Given the description of an element on the screen output the (x, y) to click on. 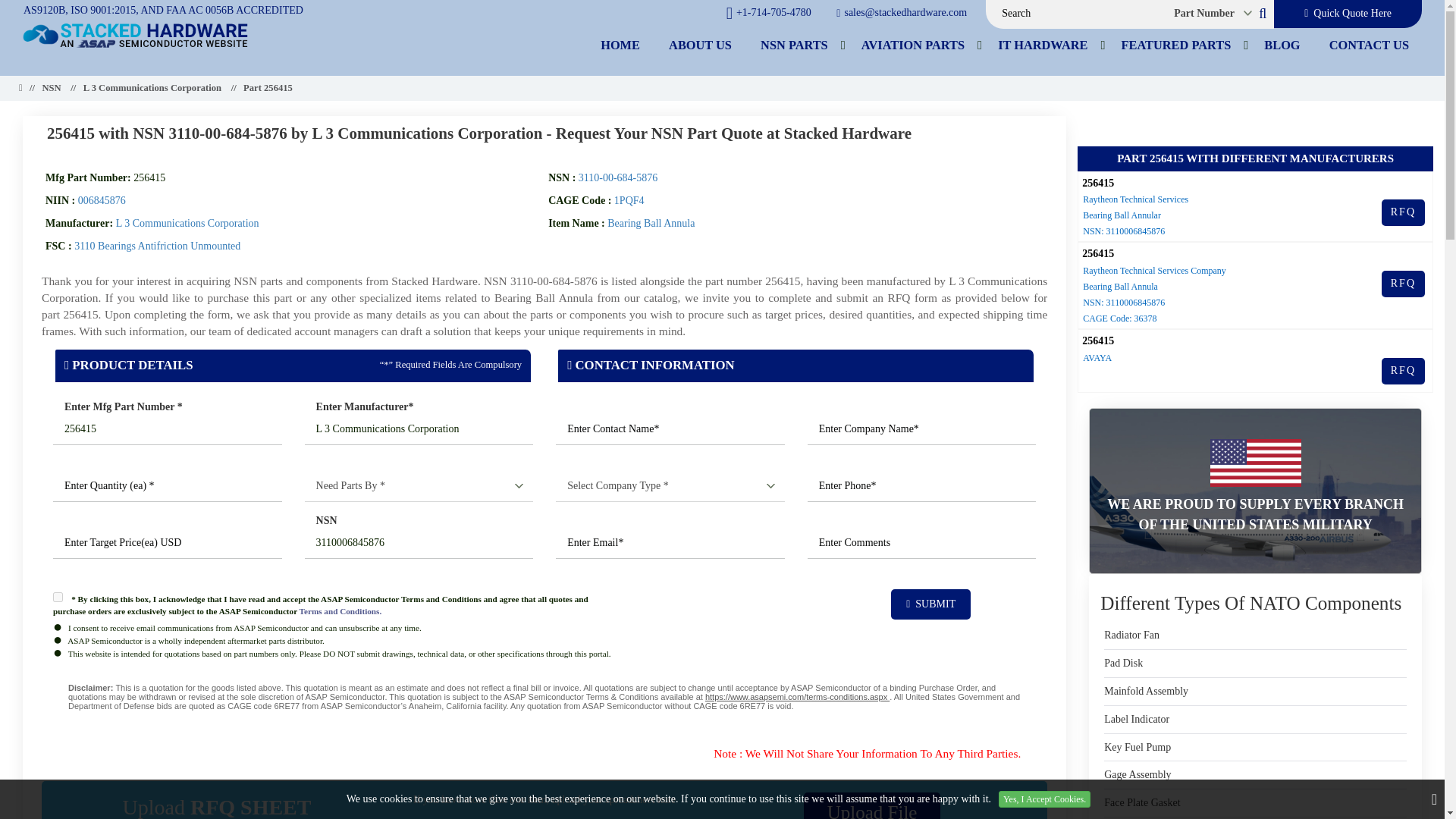
NSN (51, 88)
  Quick Quote Here (1348, 13)
3110006845876 (419, 543)
NSN PARTS (794, 44)
L 3 Communications Corporation (419, 429)
FEATURED PARTS (1176, 44)
ABOUT US (700, 44)
HOME (620, 44)
BLOG (1281, 44)
CONTACT US (1369, 44)
256415 (167, 429)
RFQ disclaimer (543, 700)
AVIATION PARTS (912, 44)
IT HARDWARE (1042, 44)
on (57, 596)
